Given the description of an element on the screen output the (x, y) to click on. 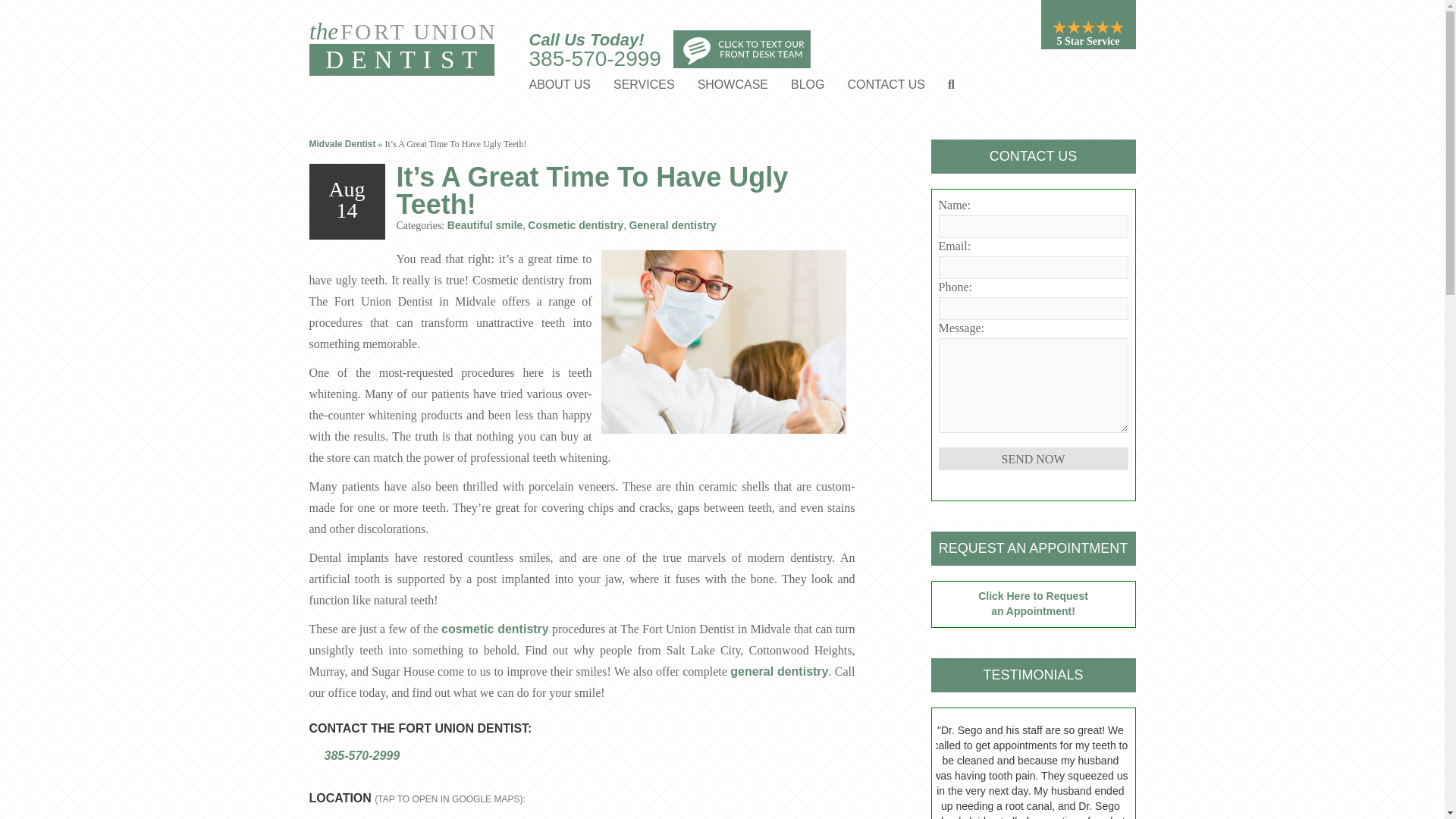
SHOWCASE (731, 86)
The Fort Union Dentist (403, 48)
SERVICES (643, 86)
Send Now (1033, 458)
385-570-2999 (595, 58)
ABOUT US (559, 86)
